Given the description of an element on the screen output the (x, y) to click on. 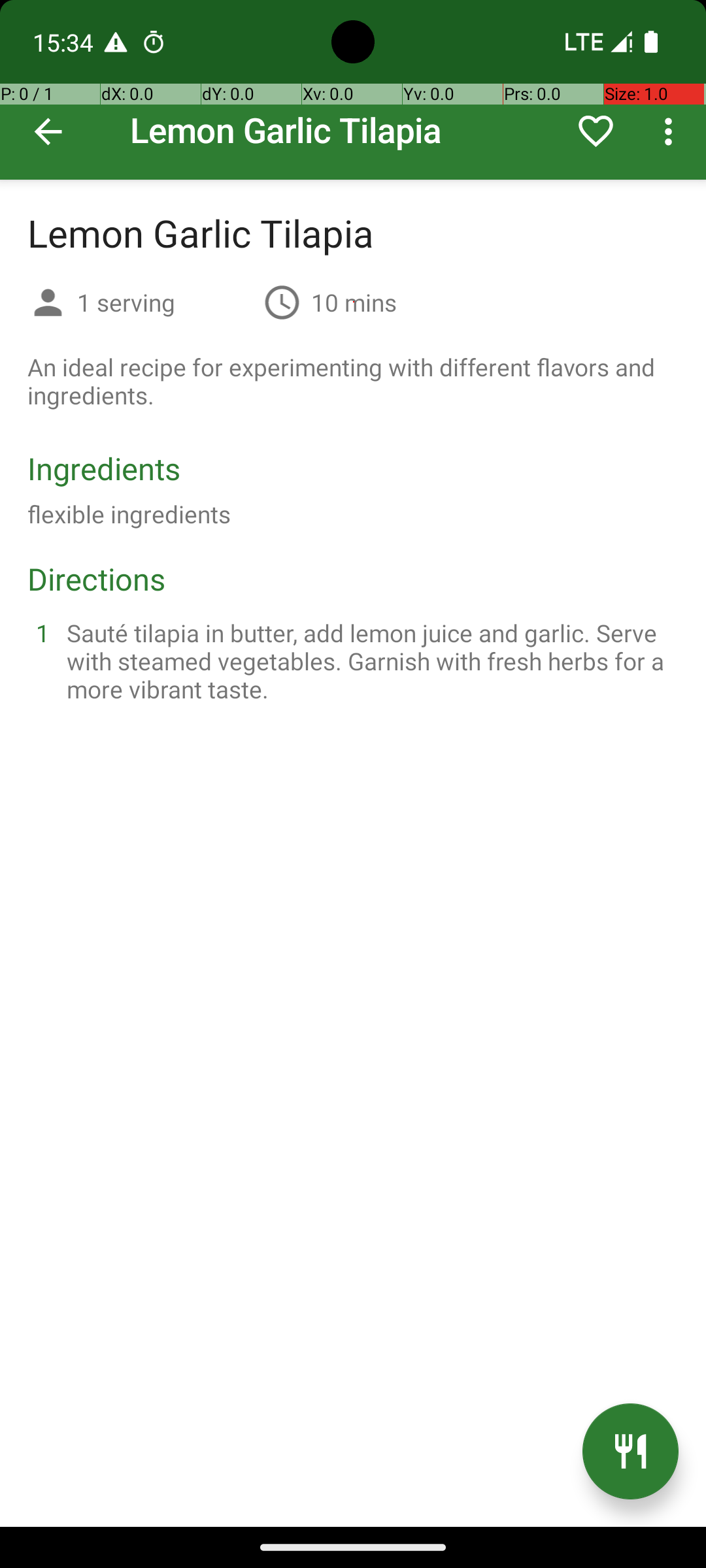
Lemon Garlic Tilapia Element type: android.widget.FrameLayout (353, 89)
10 mins Element type: android.widget.TextView (353, 301)
flexible ingredients Element type: android.widget.TextView (128, 513)
Sauté tilapia in butter, add lemon juice and garlic. Serve with steamed vegetables. Garnish with fresh herbs for a more vibrant taste. Element type: android.widget.TextView (368, 660)
